Given the description of an element on the screen output the (x, y) to click on. 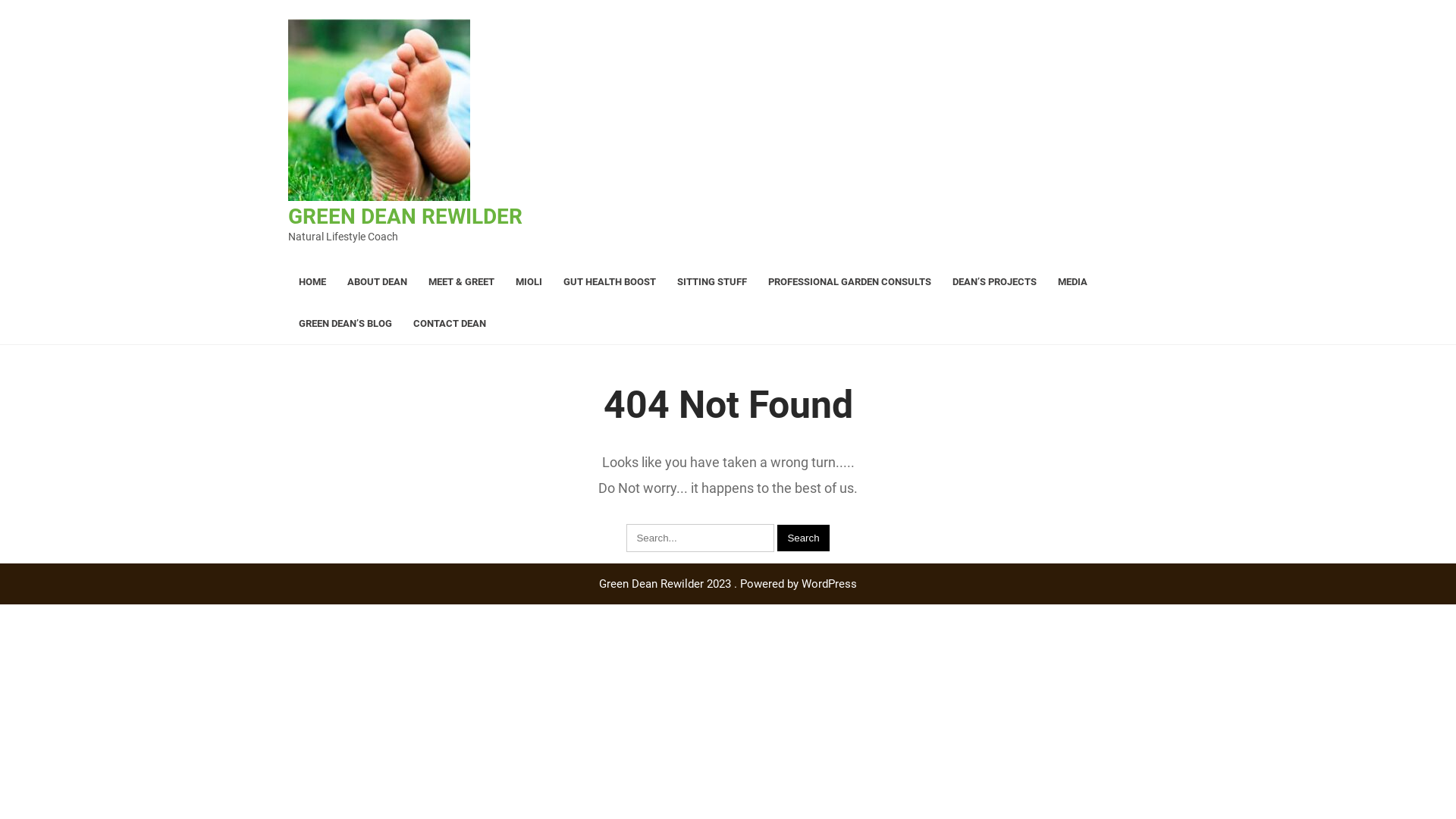
GUT HEALTH BOOST Element type: text (609, 281)
SITTING STUFF Element type: text (711, 281)
MEET & GREET Element type: text (461, 281)
ABOUT DEAN Element type: text (376, 281)
PROFESSIONAL GARDEN CONSULTS Element type: text (849, 281)
Search Element type: text (802, 537)
GREEN DEAN REWILDER Element type: text (405, 216)
Green Dean Rewilder 2023 . Powered by WordPress Element type: text (727, 583)
MEDIA Element type: text (1072, 281)
MIOLI Element type: text (528, 281)
HOME Element type: text (312, 281)
CONTACT DEAN Element type: text (449, 323)
